Given the description of an element on the screen output the (x, y) to click on. 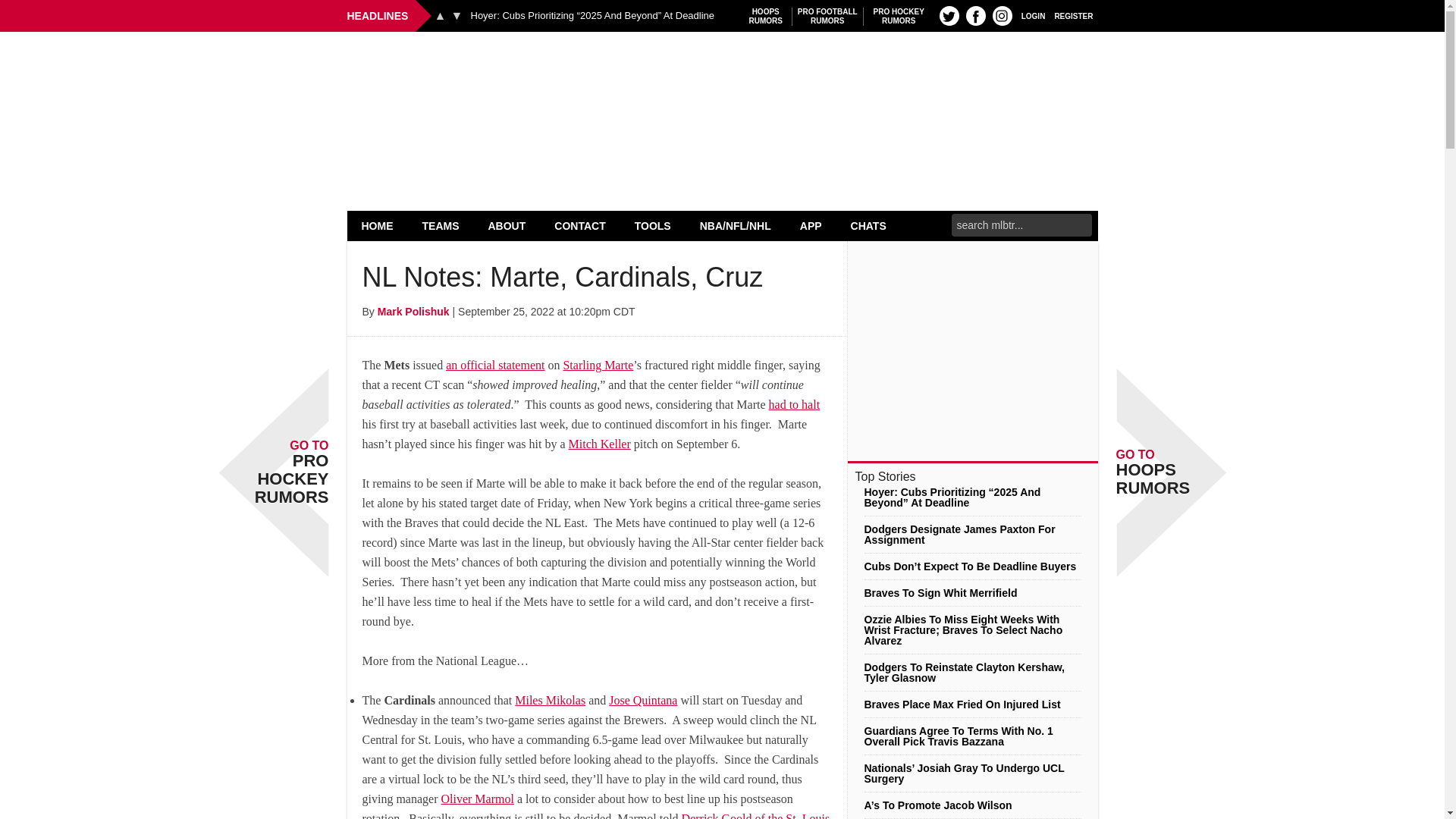
REGISTER (1073, 15)
LOGIN (1032, 15)
TEAMS (440, 225)
HOME (377, 225)
Next (456, 15)
FB profile (975, 15)
Instagram profile (1001, 15)
Previous (439, 15)
Search (827, 16)
Twitter profile (765, 16)
